Given the description of an element on the screen output the (x, y) to click on. 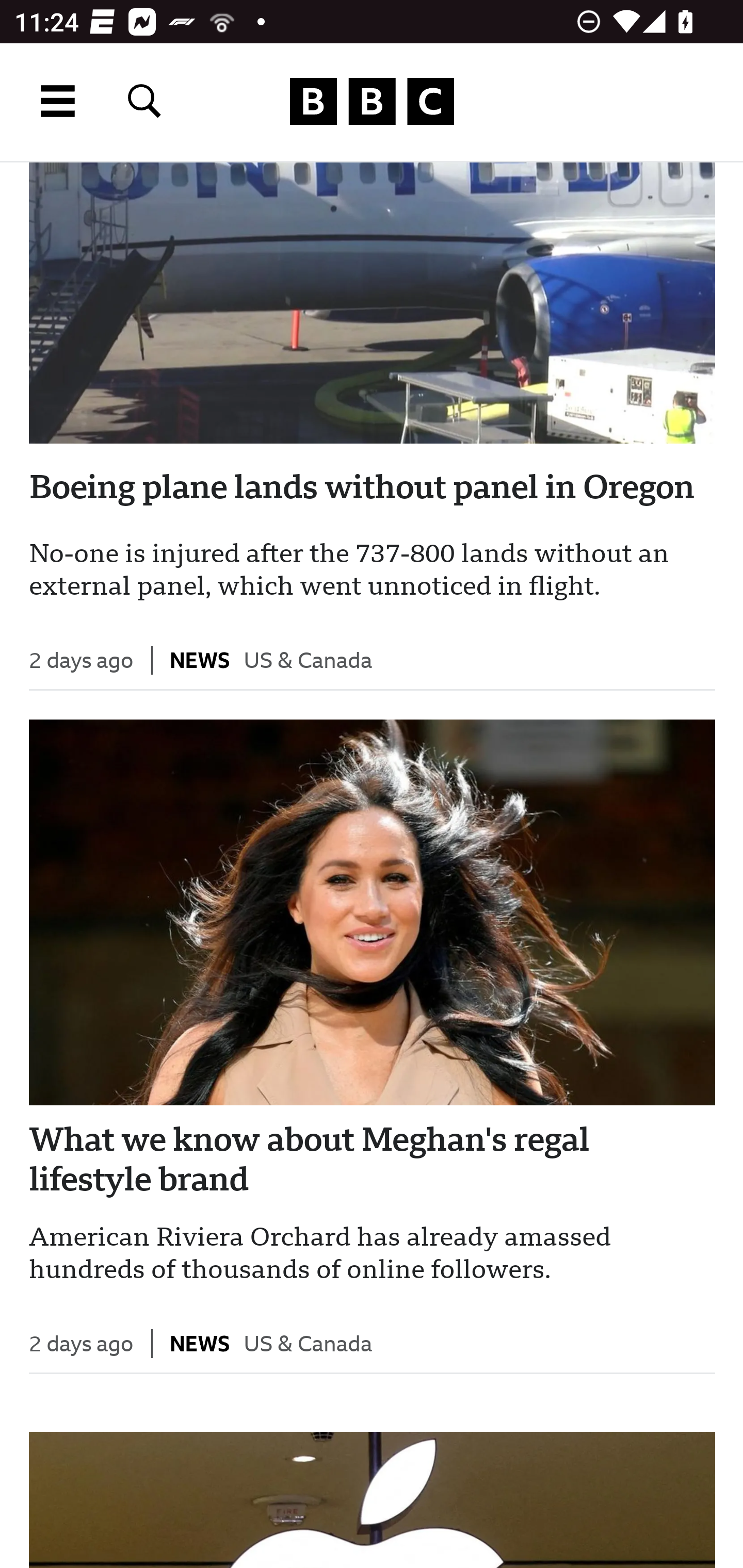
www.bbc (371, 101)
